Given the description of an element on the screen output the (x, y) to click on. 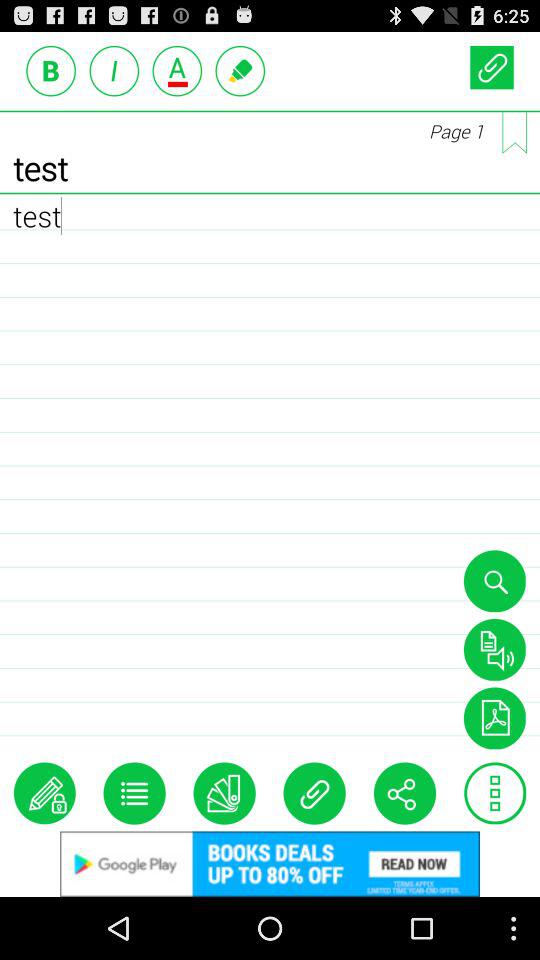
click upload files (491, 66)
